Given the description of an element on the screen output the (x, y) to click on. 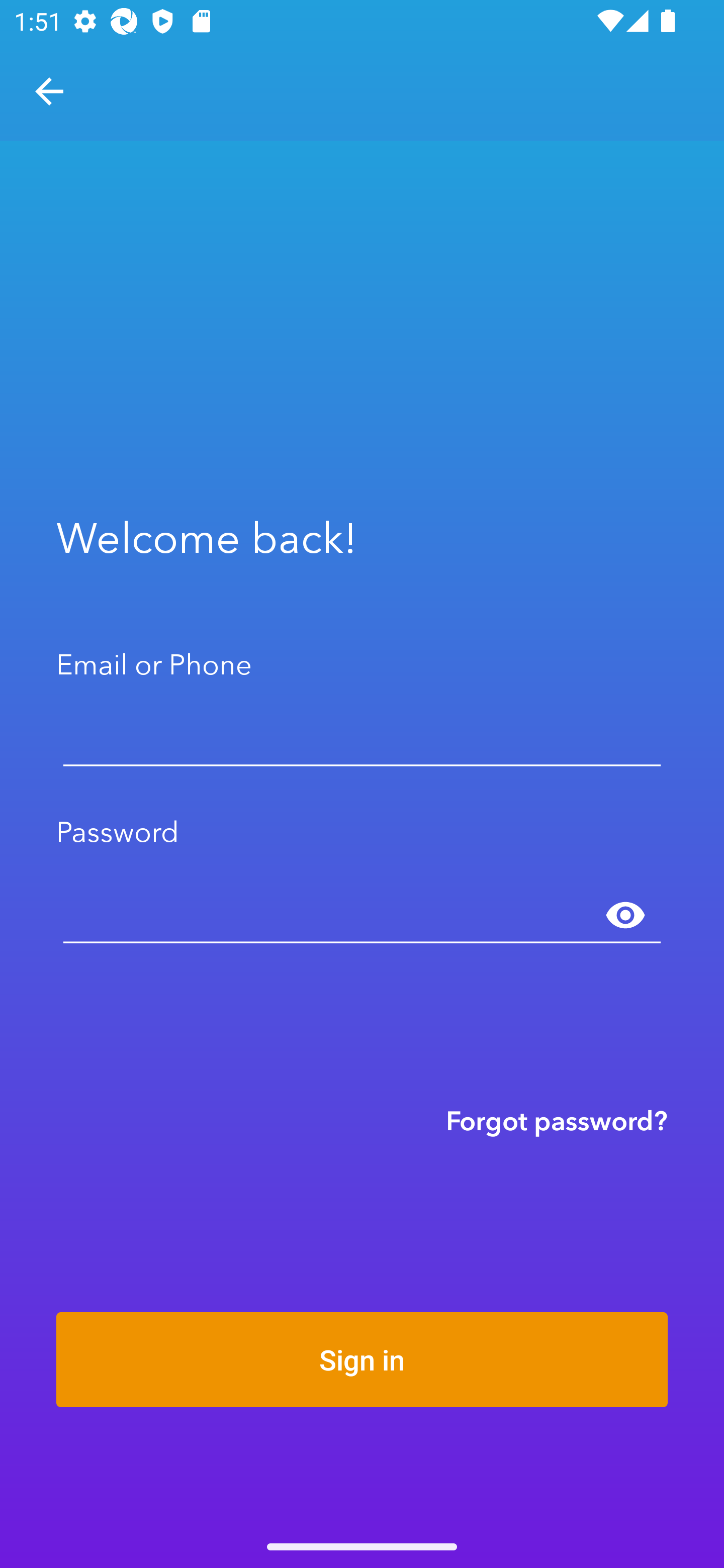
Navigate up (49, 91)
Show password (625, 915)
Forgot password? (556, 1119)
Sign in (361, 1359)
